Given the description of an element on the screen output the (x, y) to click on. 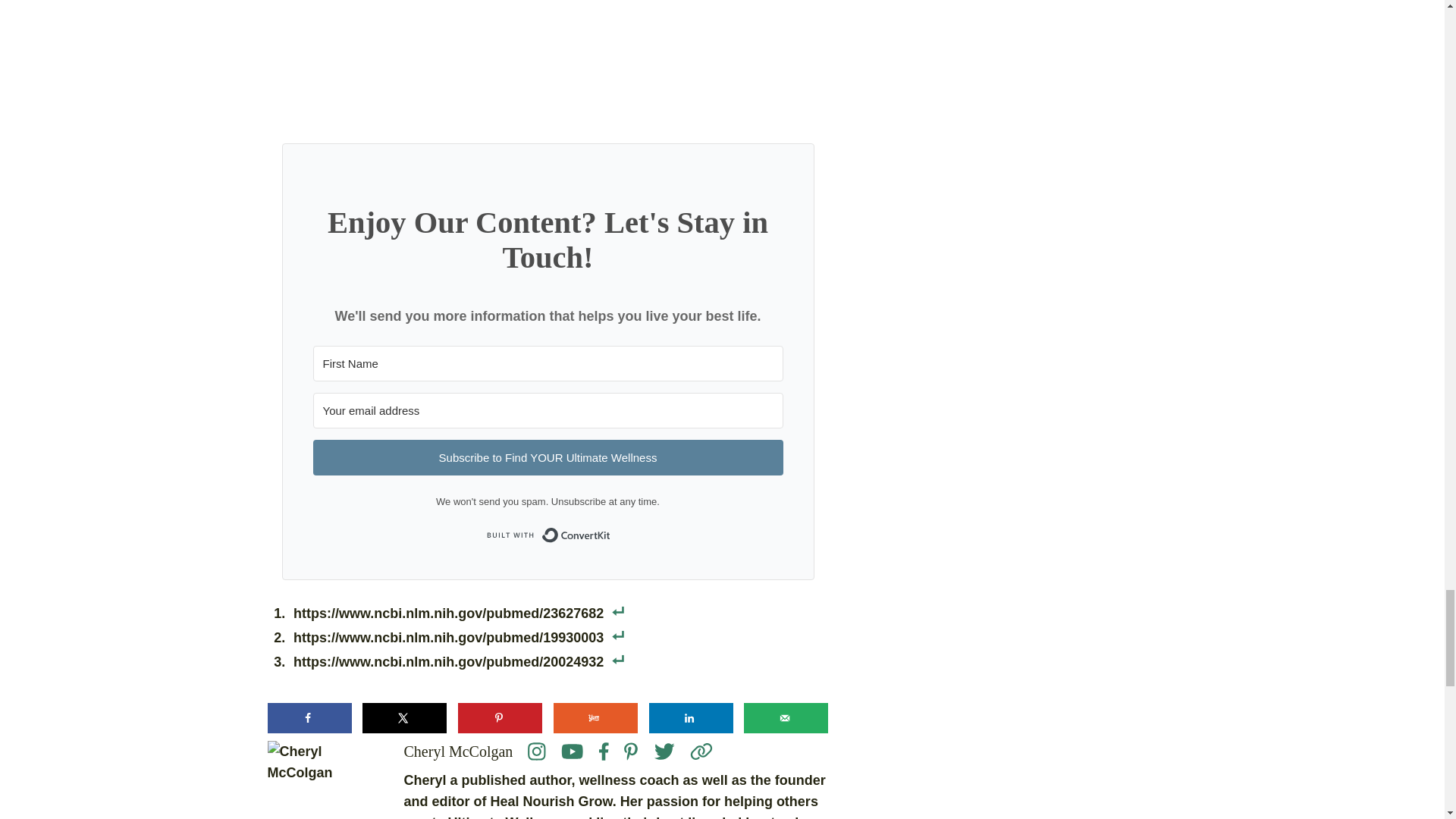
Share on Yummly (595, 717)
Share on Facebook (308, 717)
Share on LinkedIn (691, 717)
Save to Pinterest (499, 717)
Send over email (786, 717)
Share on X (404, 717)
